Given the description of an element on the screen output the (x, y) to click on. 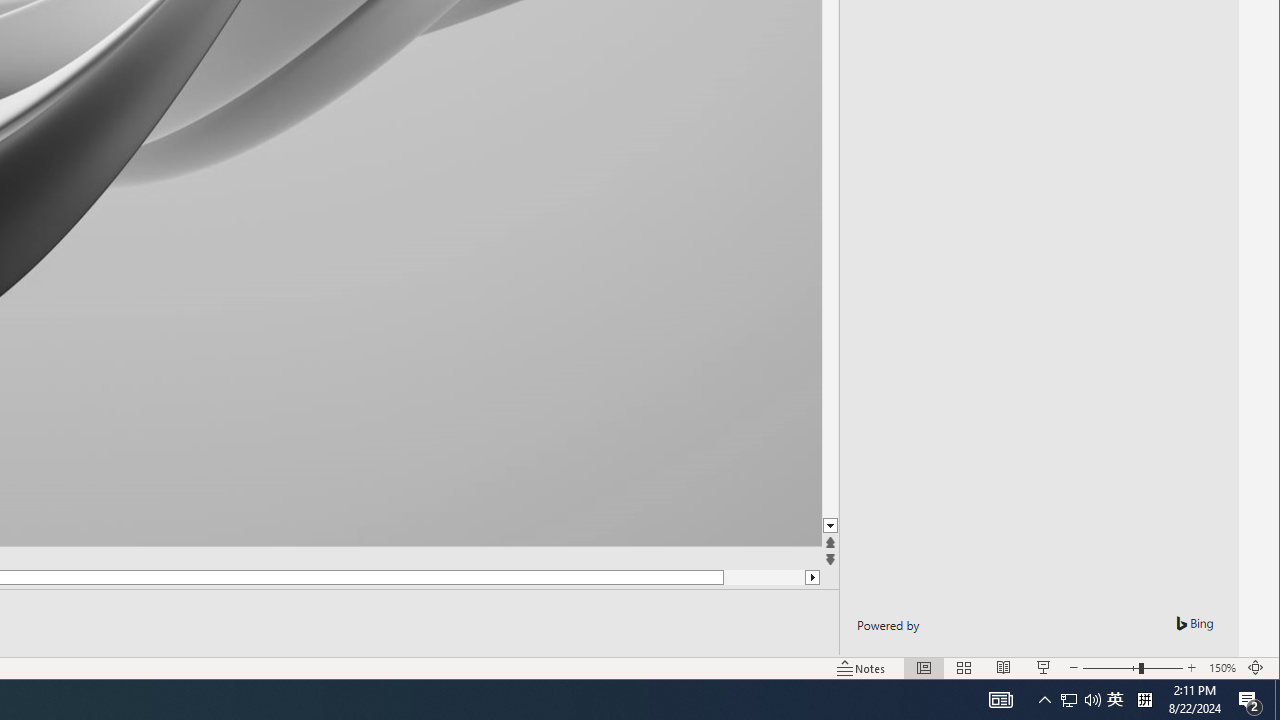
Zoom 150% (1222, 668)
